Given the description of an element on the screen output the (x, y) to click on. 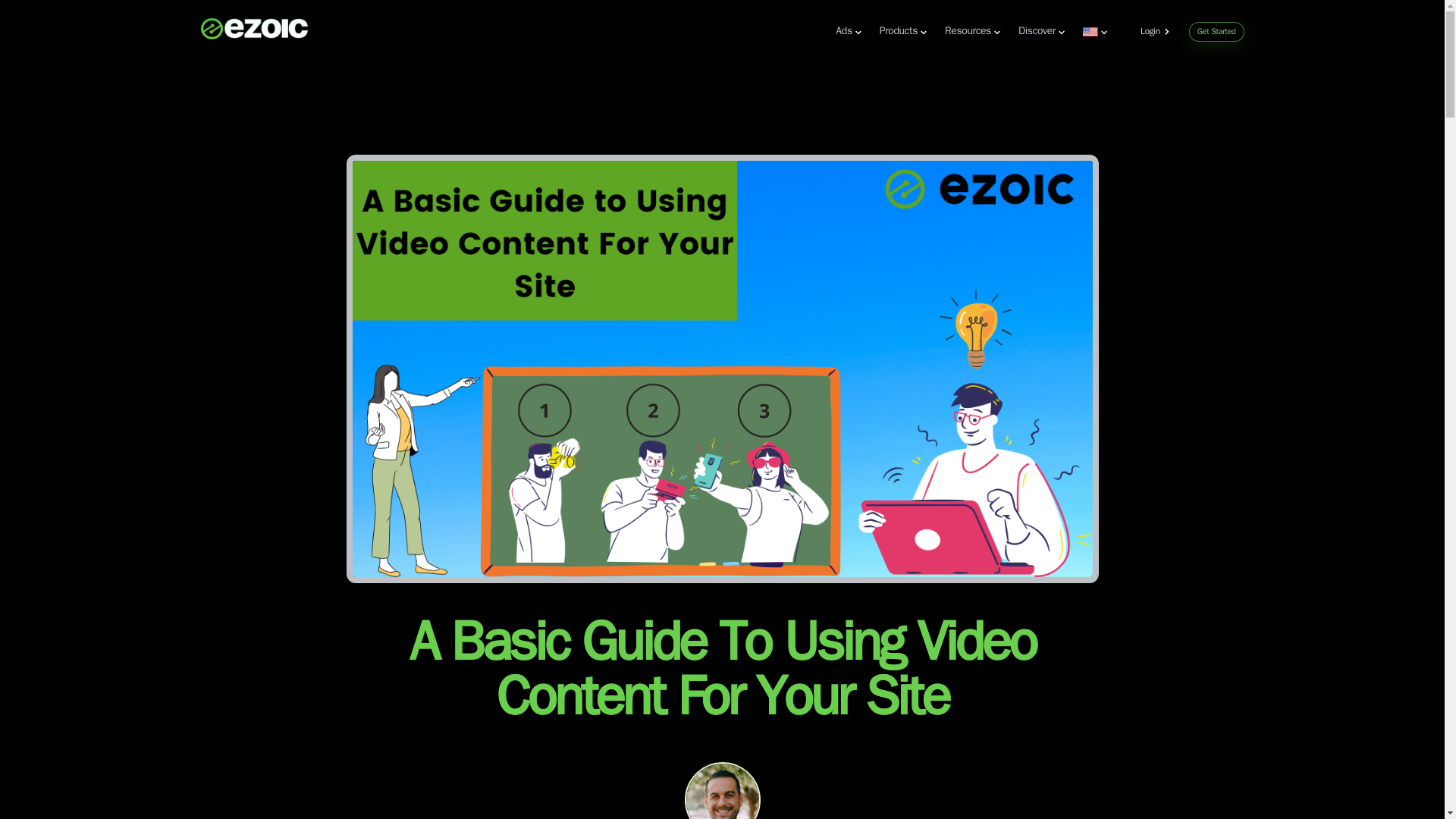
Login (1158, 32)
Get Started (1216, 32)
